Given the description of an element on the screen output the (x, y) to click on. 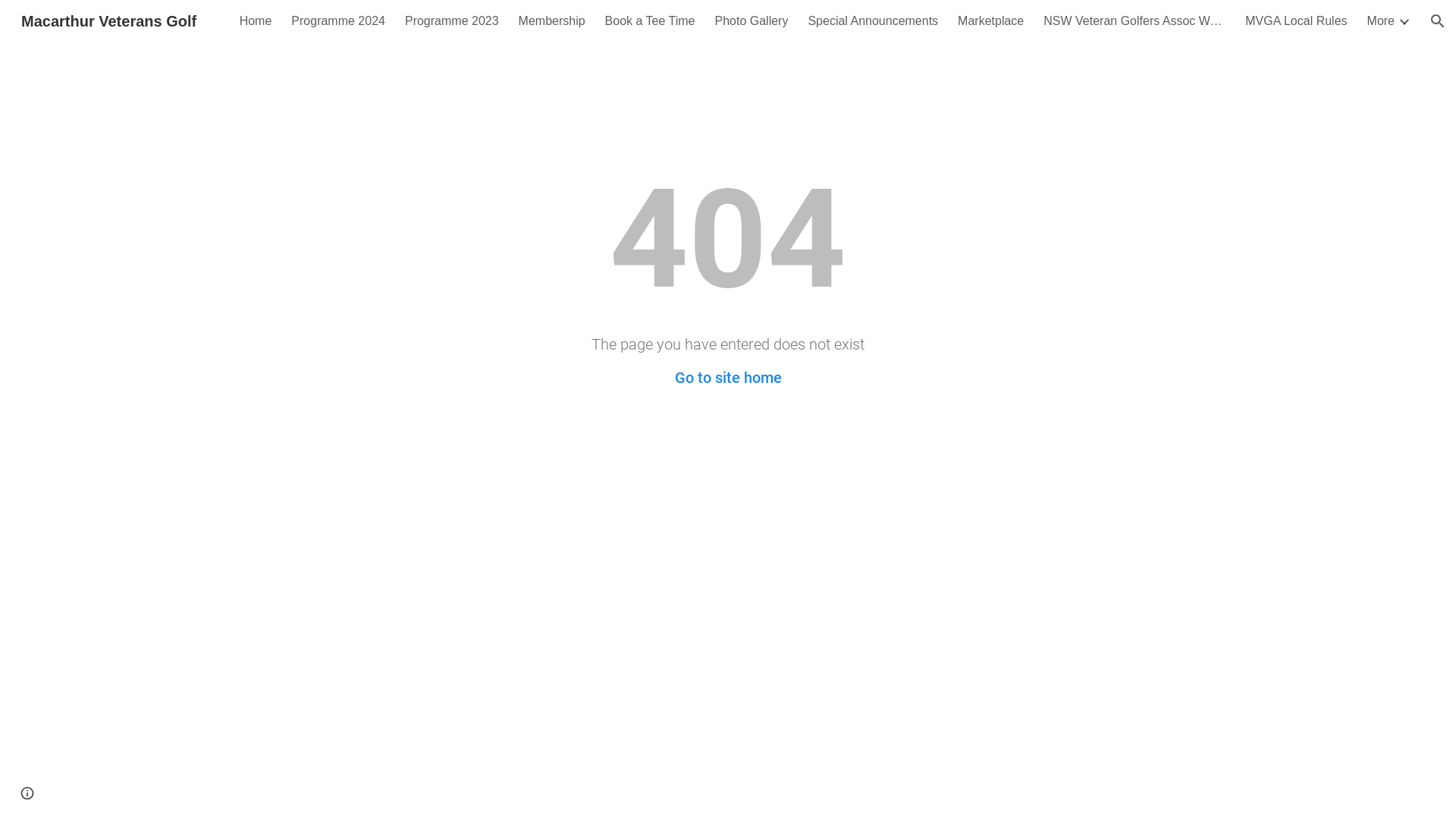
More Element type: text (1380, 21)
Home Element type: text (255, 21)
MVGA Local Rules Element type: text (1295, 21)
Expand/Collapse Element type: hover (1403, 21)
Go to site home Element type: text (727, 377)
Programme 2023 Element type: text (451, 21)
Special Announcements Element type: text (872, 21)
Membership Element type: text (551, 21)
Book a Tee Time Element type: text (650, 21)
Photo Gallery Element type: text (750, 21)
NSW Veteran Golfers Assoc Website Element type: text (1134, 21)
Macarthur Veterans Golf Element type: text (108, 19)
Programme 2024 Element type: text (338, 21)
Marketplace Element type: text (990, 21)
